Given the description of an element on the screen output the (x, y) to click on. 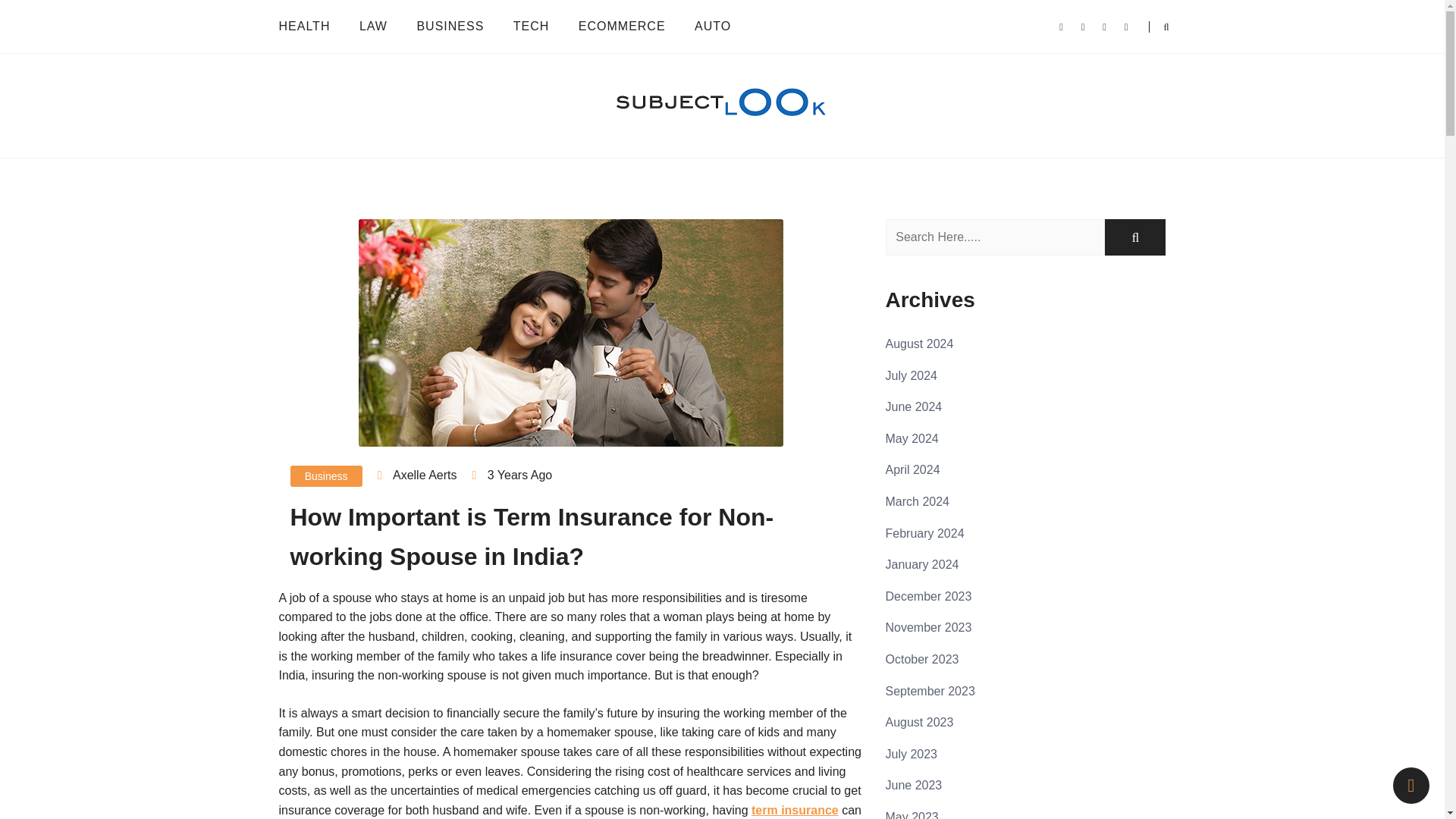
June 2024 (913, 406)
September 2023 (930, 689)
BUSINESS (449, 26)
August 2023 (919, 721)
Business (325, 476)
December 2023 (928, 595)
January 2024 (922, 563)
SUBJECT LOOK (373, 152)
August 2024 (919, 343)
HEALTH (311, 26)
